Given the description of an element on the screen output the (x, y) to click on. 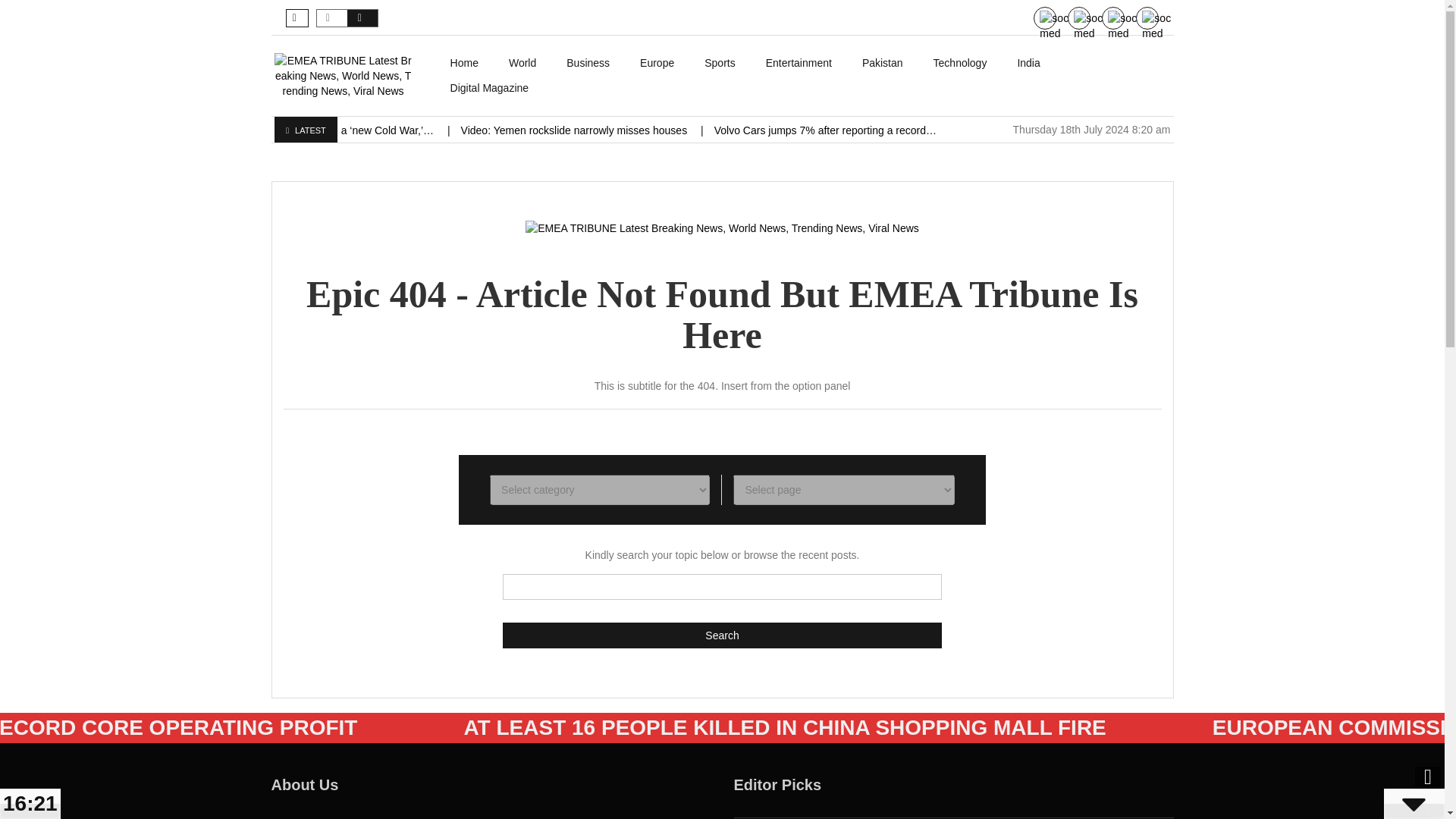
Entertainment (799, 63)
Call Us (1092, 25)
Twitter (1126, 25)
Digital Magazine (489, 88)
Facebook (1160, 25)
Skip to content (470, 58)
Business (587, 63)
Search (722, 635)
India (1027, 63)
Sports (718, 63)
Pakistan (882, 63)
Skip to content (470, 58)
Home (464, 63)
Video: Yemen rockslide narrowly misses houses (575, 130)
Technology (960, 63)
